Given the description of an element on the screen output the (x, y) to click on. 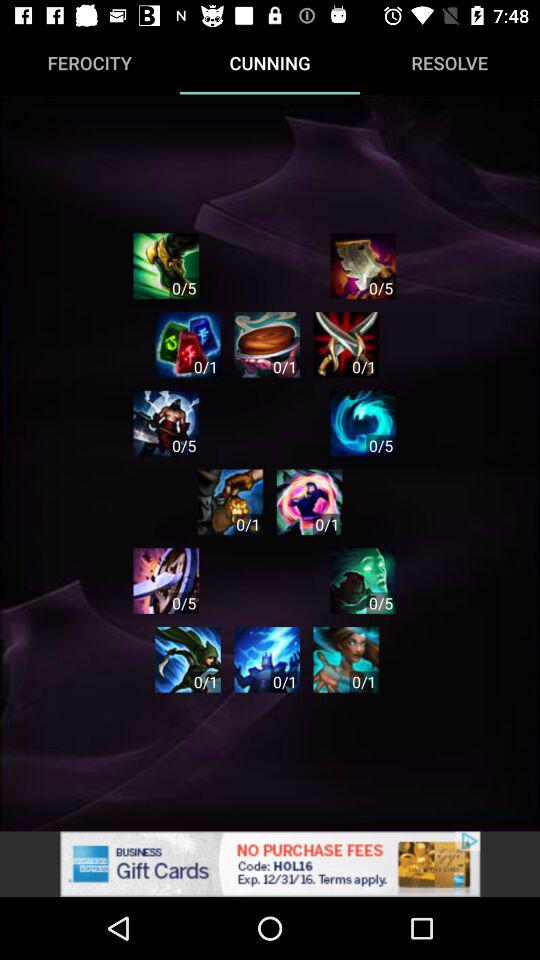
add point to a skill (309, 502)
